Given the description of an element on the screen output the (x, y) to click on. 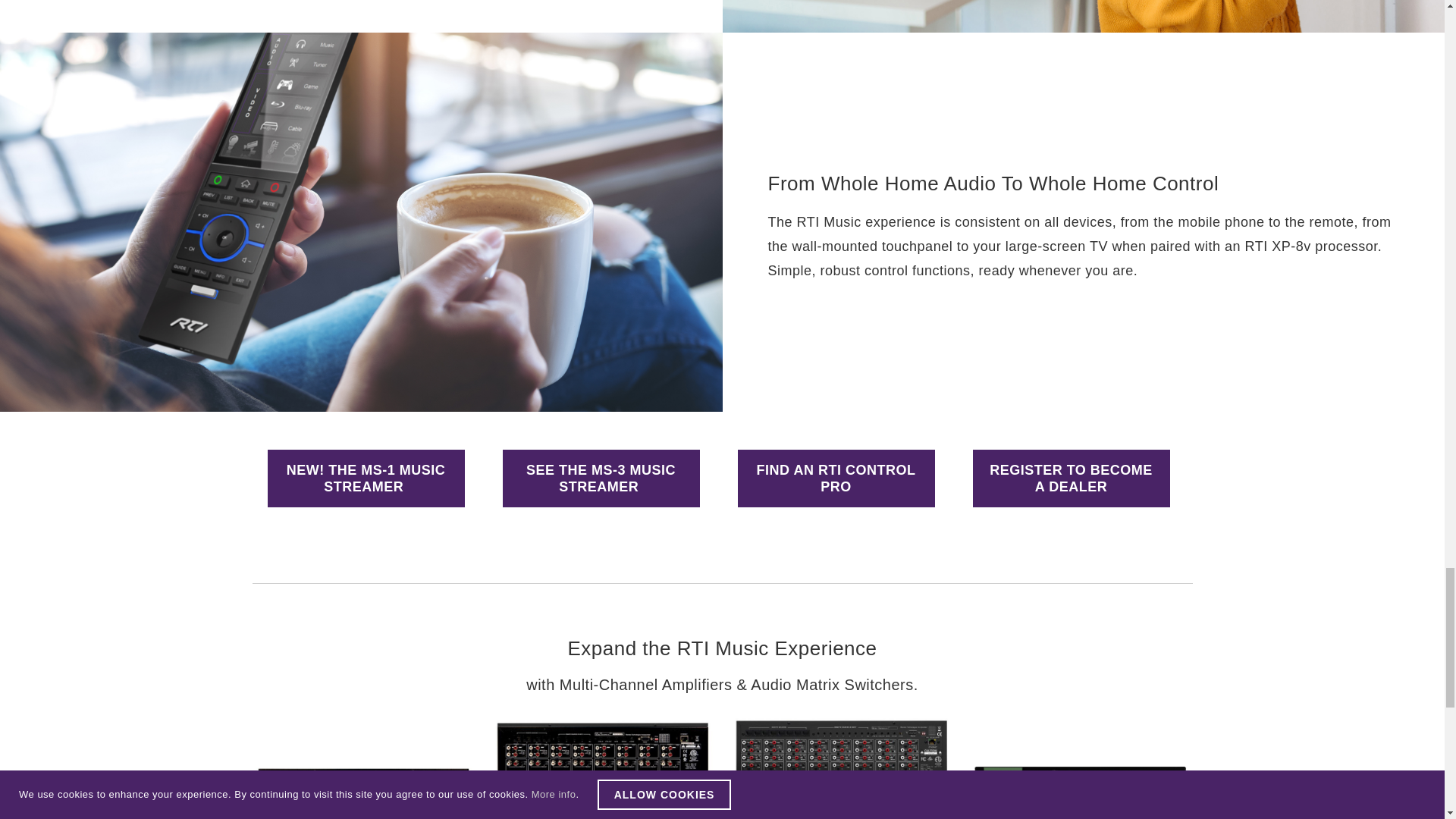
NEW! THE MS-1 MUSIC STREAMER  (365, 477)
SEE THE MS-3 MUSIC STREAMER  (600, 477)
FIND AN RTI CONTROL PRO (835, 477)
REGISTER TO BECOME A DEALER (1070, 477)
AD-4x: Learn More (360, 811)
AD-8x: Learn More (599, 811)
